Given the description of an element on the screen output the (x, y) to click on. 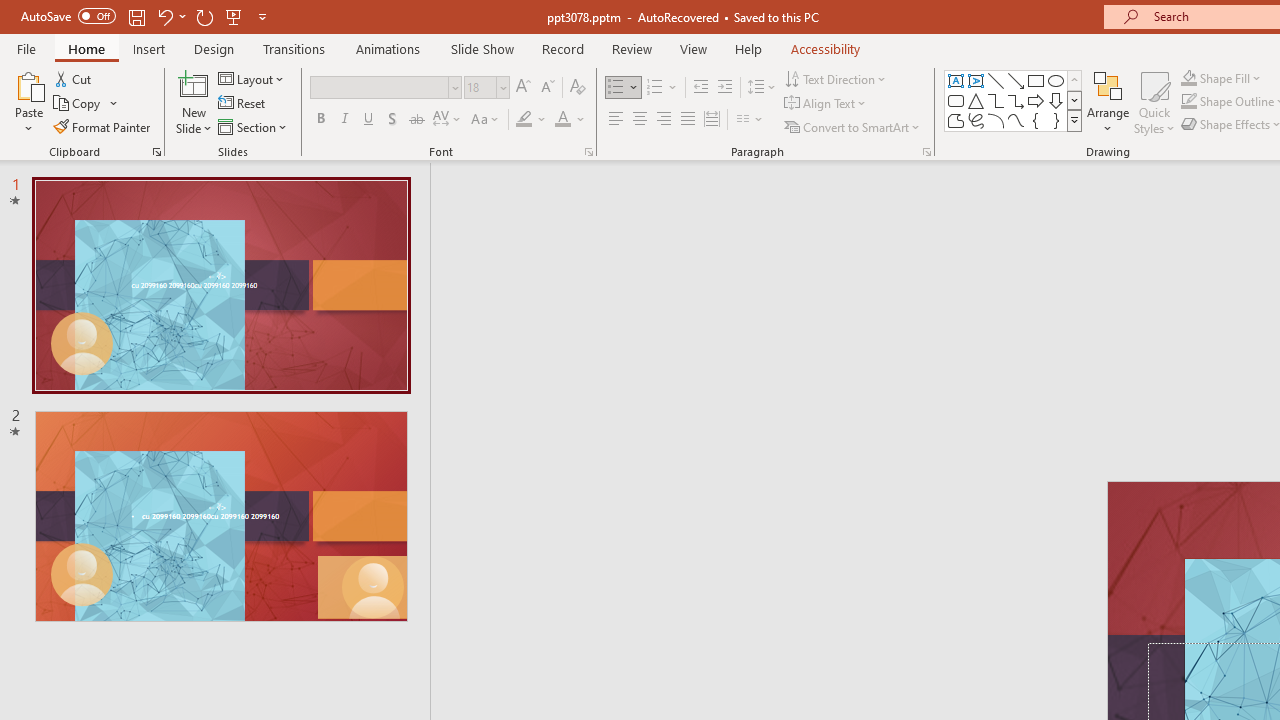
Connector: Elbow Arrow (1016, 100)
Vertical Text Box (975, 80)
Align Right (663, 119)
Convert to SmartArt (853, 126)
Line (995, 80)
Paragraph... (926, 151)
Clear Formatting (577, 87)
Section (254, 126)
Shadow (392, 119)
Bold (320, 119)
